Given the description of an element on the screen output the (x, y) to click on. 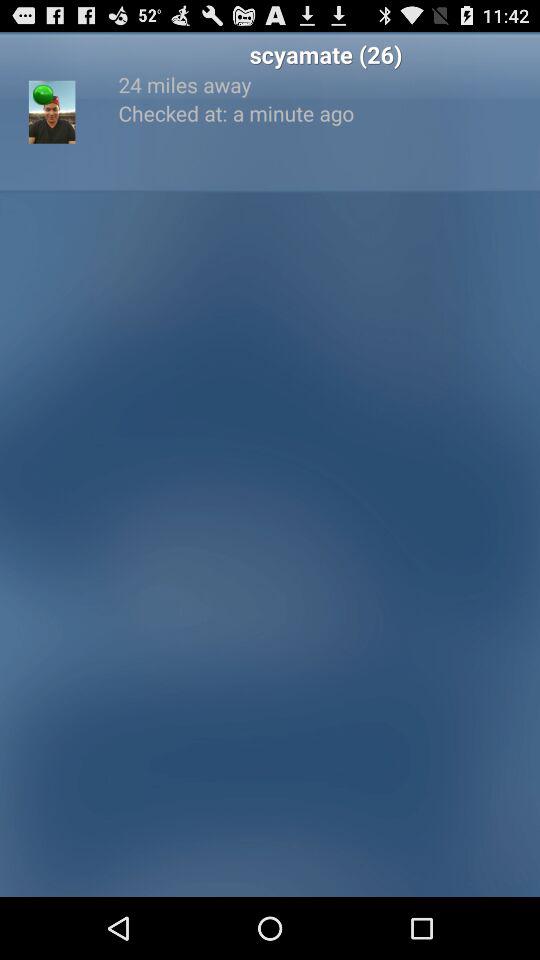
tap the icon below the scyamate (26) app (325, 84)
